Given the description of an element on the screen output the (x, y) to click on. 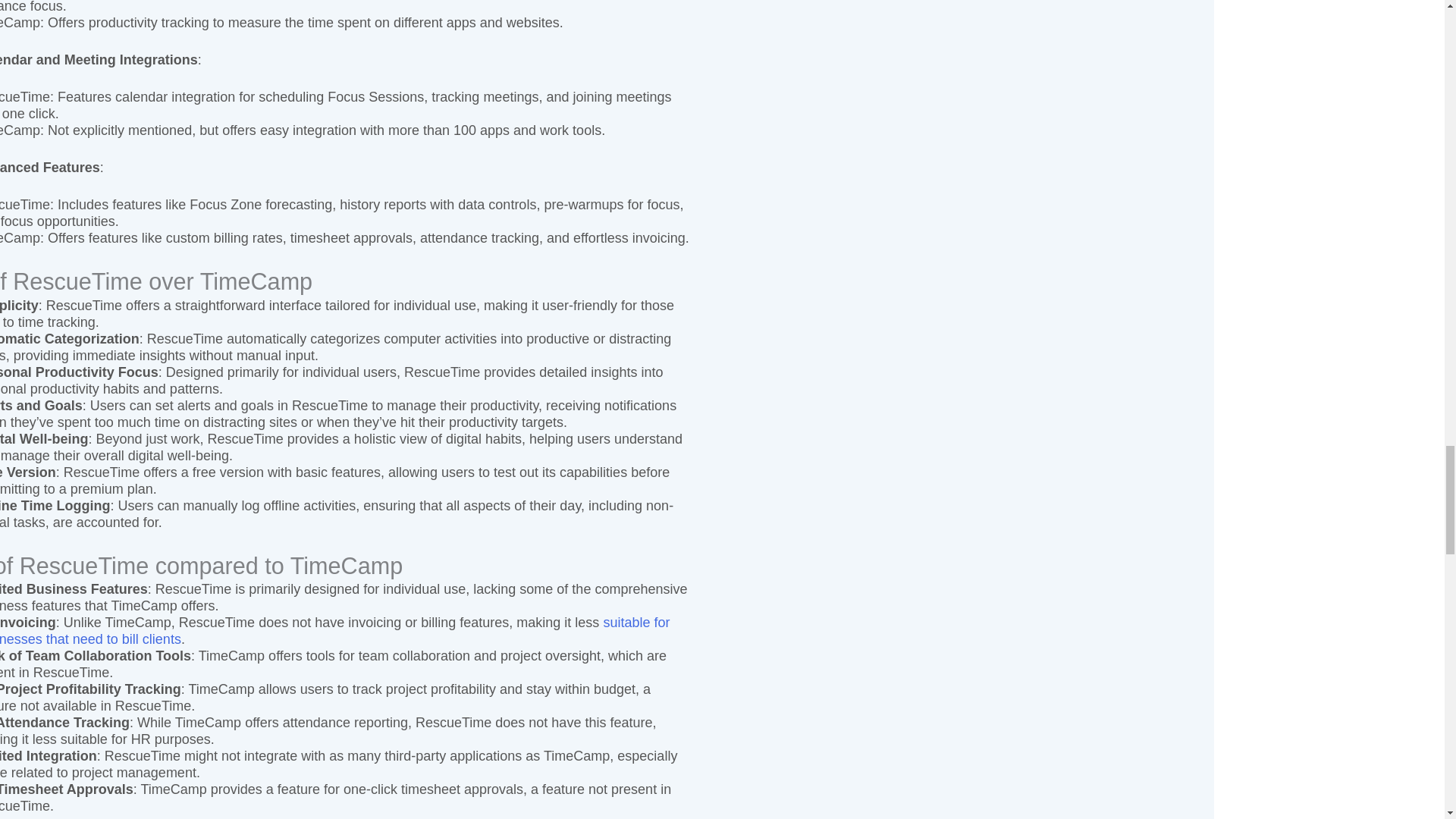
suitable for businesses that need to bill clients (334, 631)
